Given the description of an element on the screen output the (x, y) to click on. 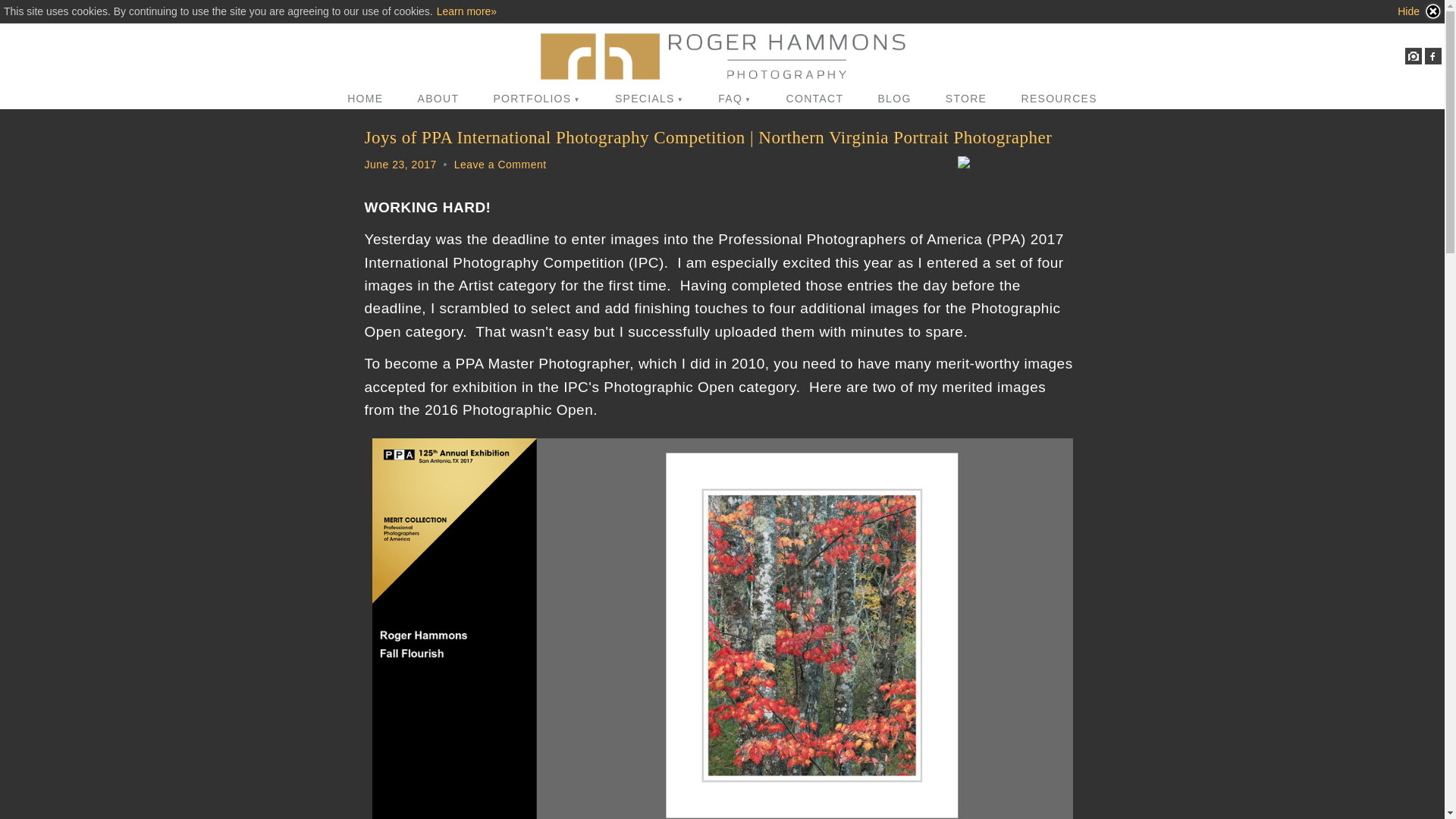
RESOURCES (1059, 98)
STORE (965, 98)
Hide (1419, 11)
HOME (364, 98)
Roger Hammons Photography LLC (721, 56)
BLOG (893, 98)
Leave a Comment (500, 164)
ABOUT (438, 98)
CONTACT (815, 98)
